Given the description of an element on the screen output the (x, y) to click on. 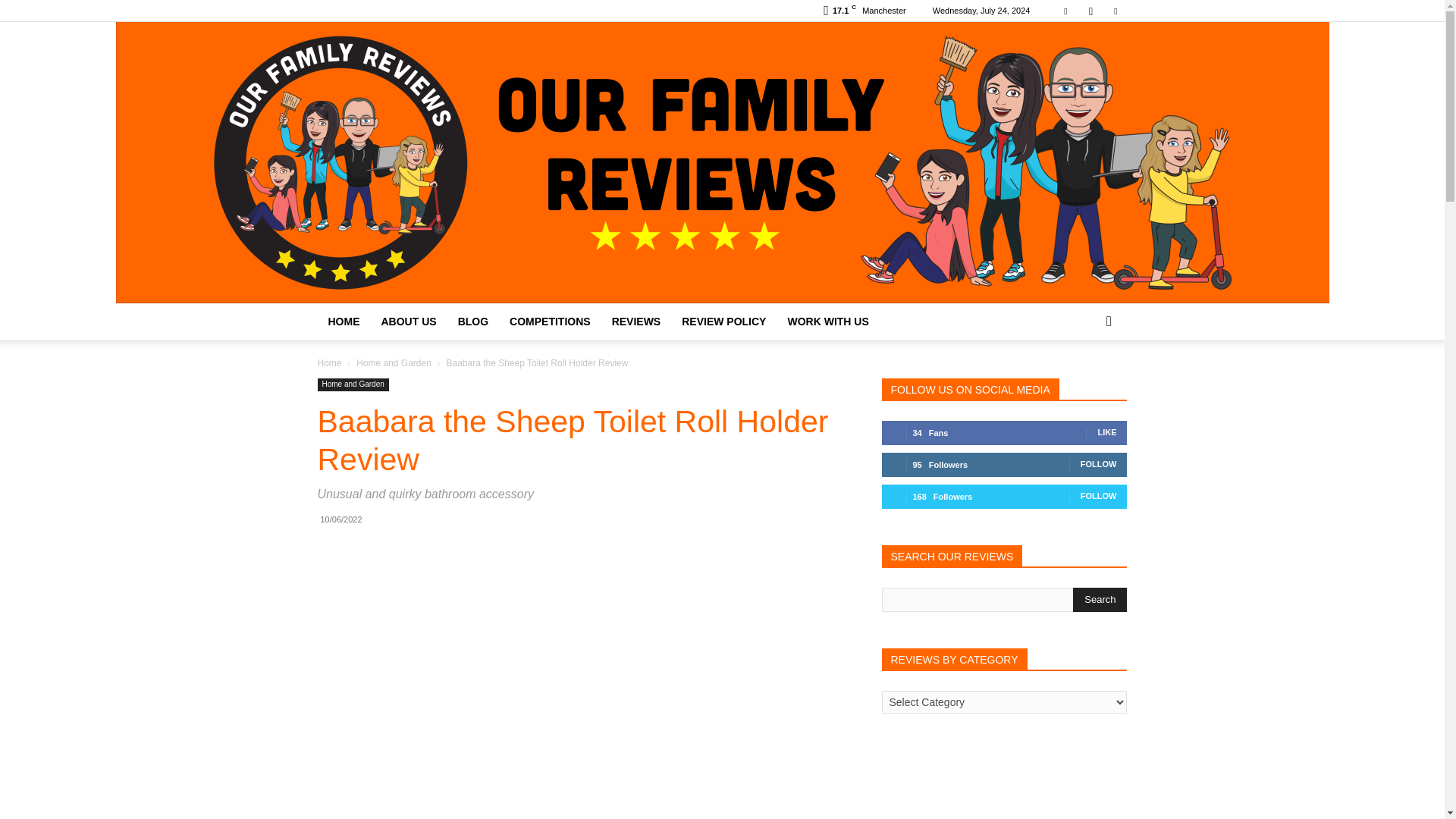
Facebook (1065, 10)
Facebook (1024, 321)
Instagram (1050, 321)
Instagram (1090, 10)
BLOG (472, 321)
Twitter (1075, 321)
Search (1099, 599)
COMPETITIONS (550, 321)
Twitter (1114, 10)
ABOUT US (407, 321)
HOME (343, 321)
View all posts in Home and Garden (393, 362)
